Given the description of an element on the screen output the (x, y) to click on. 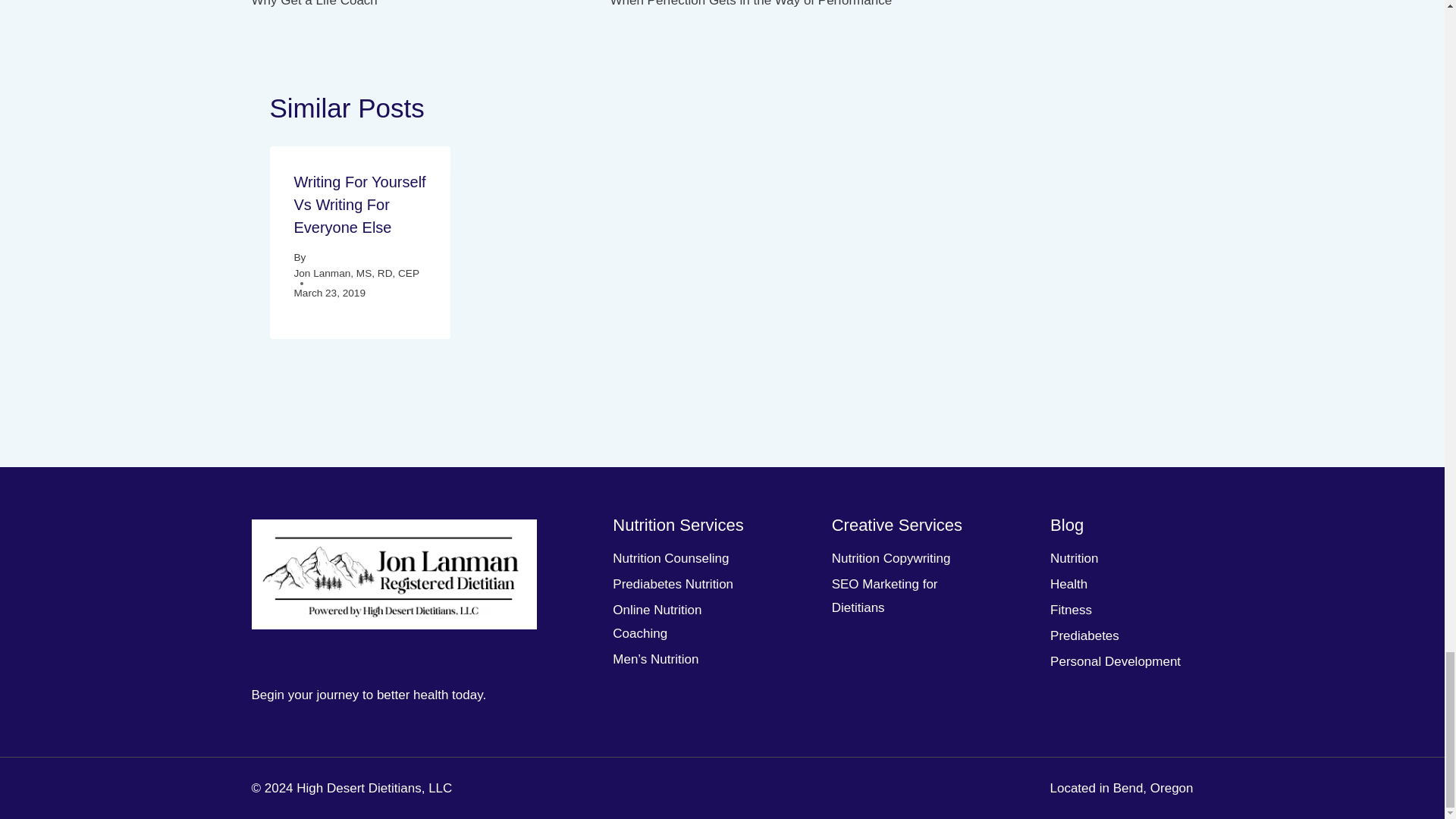
Jon Lanman, MS, RD, CEP (356, 273)
Writing For Yourself Vs Writing For Everyone Else (411, 5)
